Given the description of an element on the screen output the (x, y) to click on. 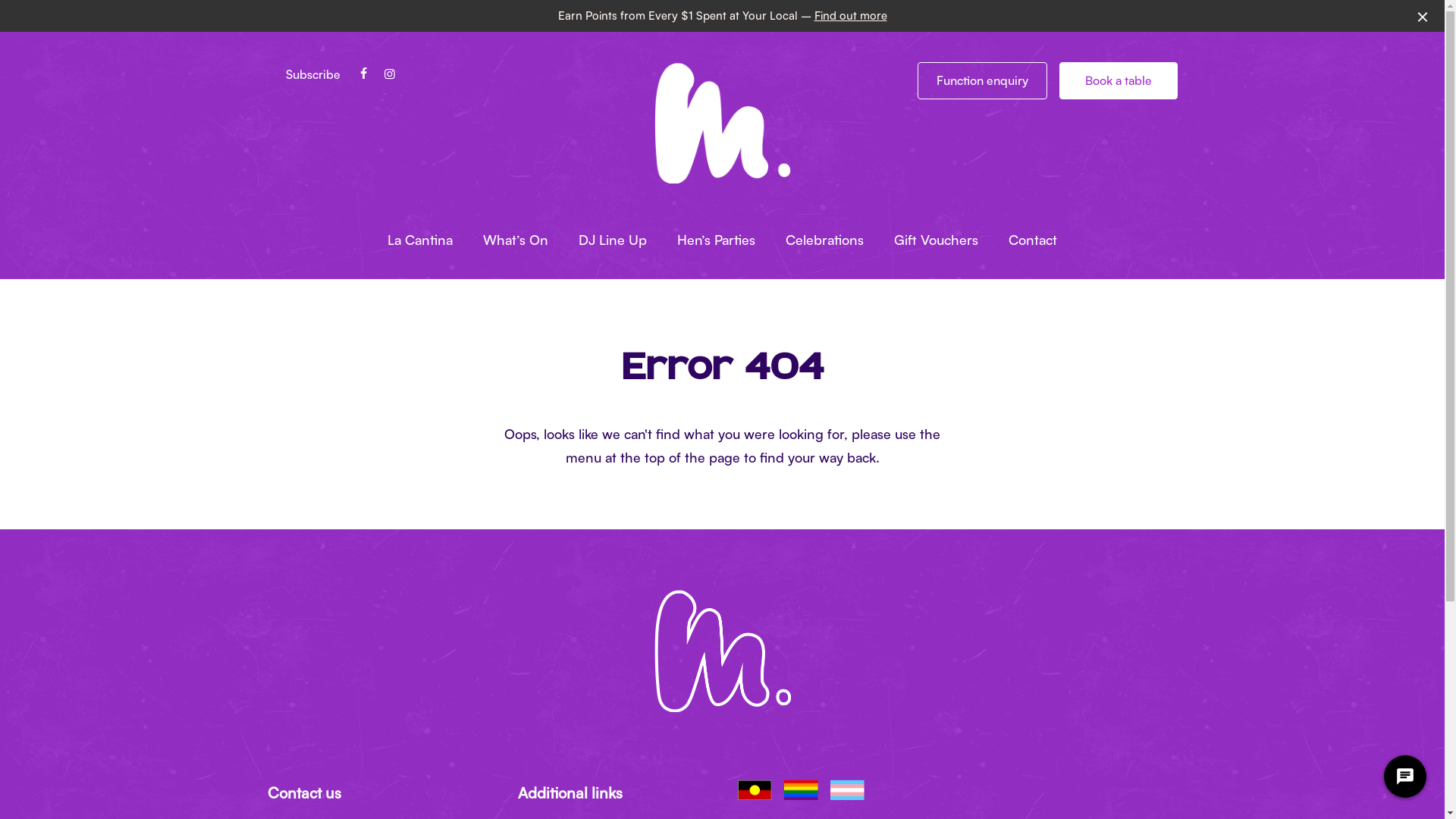
Contact Element type: text (1032, 240)
Celebrations Element type: text (824, 240)
Function enquiry Element type: text (982, 80)
Book a table Element type: text (1117, 80)
DJ Line Up Element type: text (612, 240)
Subscribe Element type: text (312, 73)
Gift Vouchers Element type: text (936, 240)
Genesys Messenger Launcher Element type: hover (1404, 779)
Find out more Element type: text (850, 14)
La Cantina Element type: text (419, 240)
